Given the description of an element on the screen output the (x, y) to click on. 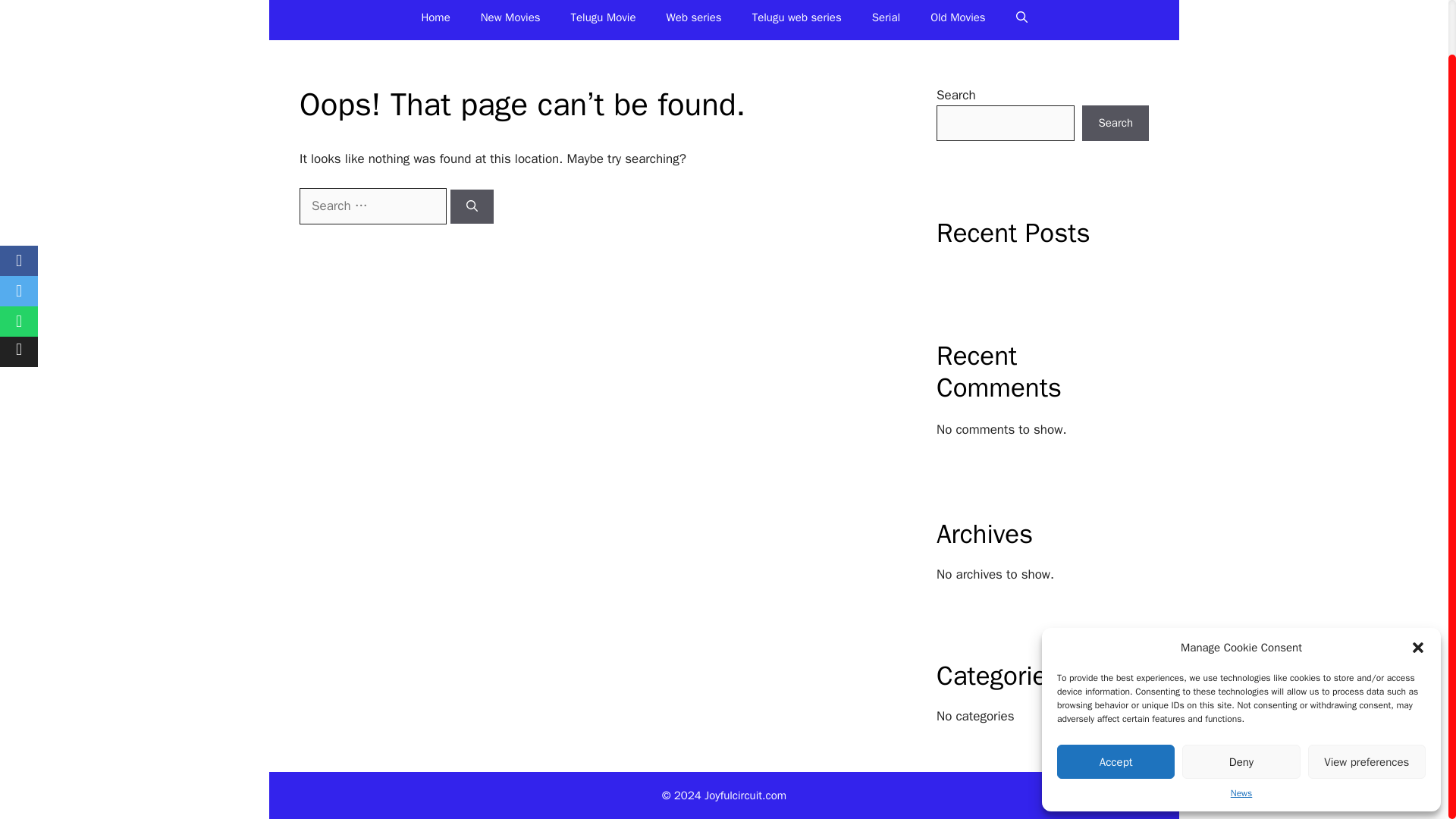
Telugu Movie (603, 20)
New Movies (510, 20)
View preferences (1366, 703)
Home (435, 20)
Telugu web series (796, 20)
Search (1114, 123)
Accept (1115, 703)
Web series (693, 20)
Search for: (372, 206)
Deny (1241, 703)
News (1241, 735)
Old Movies (958, 20)
Serial (886, 20)
